Given the description of an element on the screen output the (x, y) to click on. 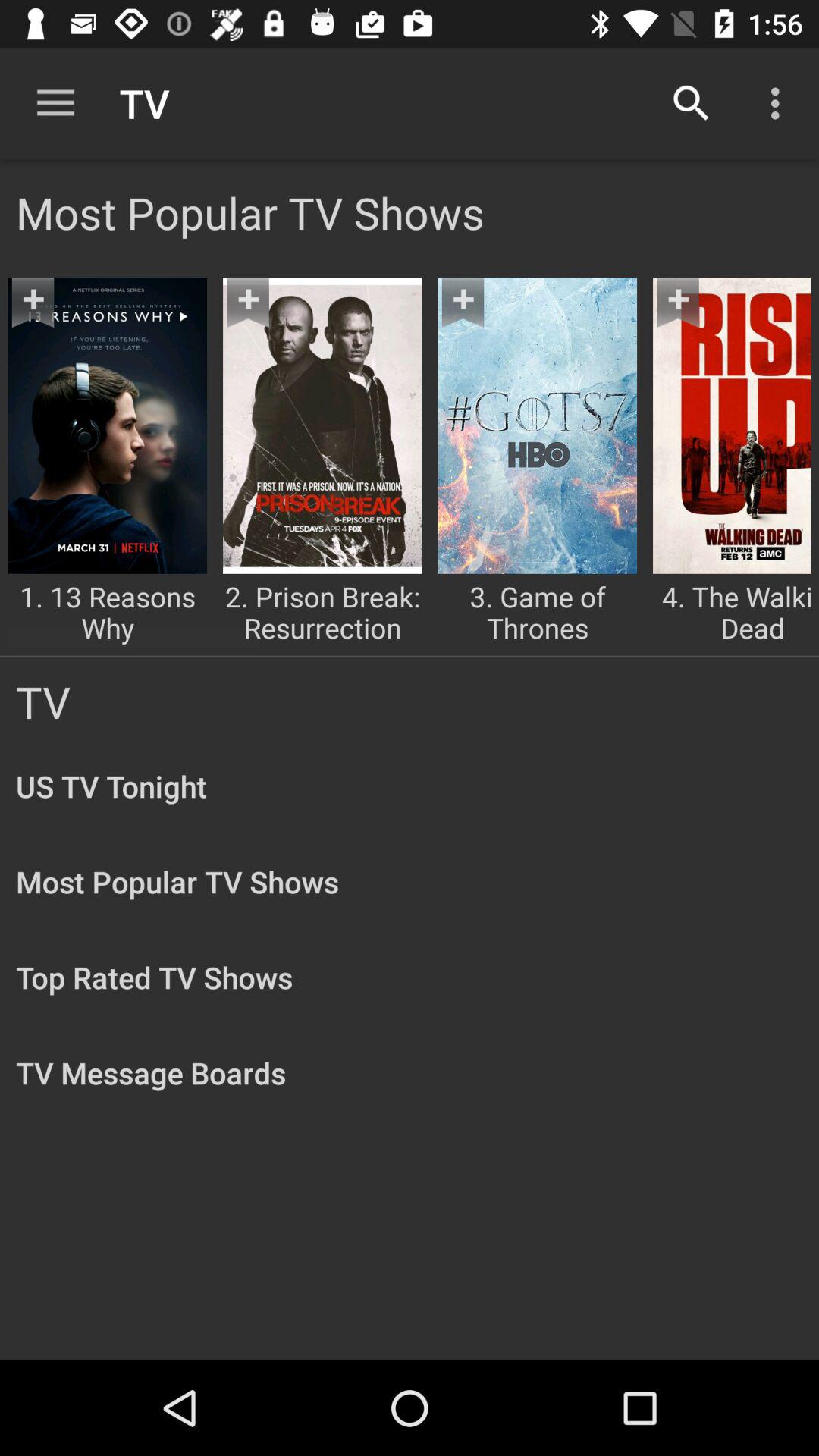
turn off item above most popular tv (55, 103)
